Given the description of an element on the screen output the (x, y) to click on. 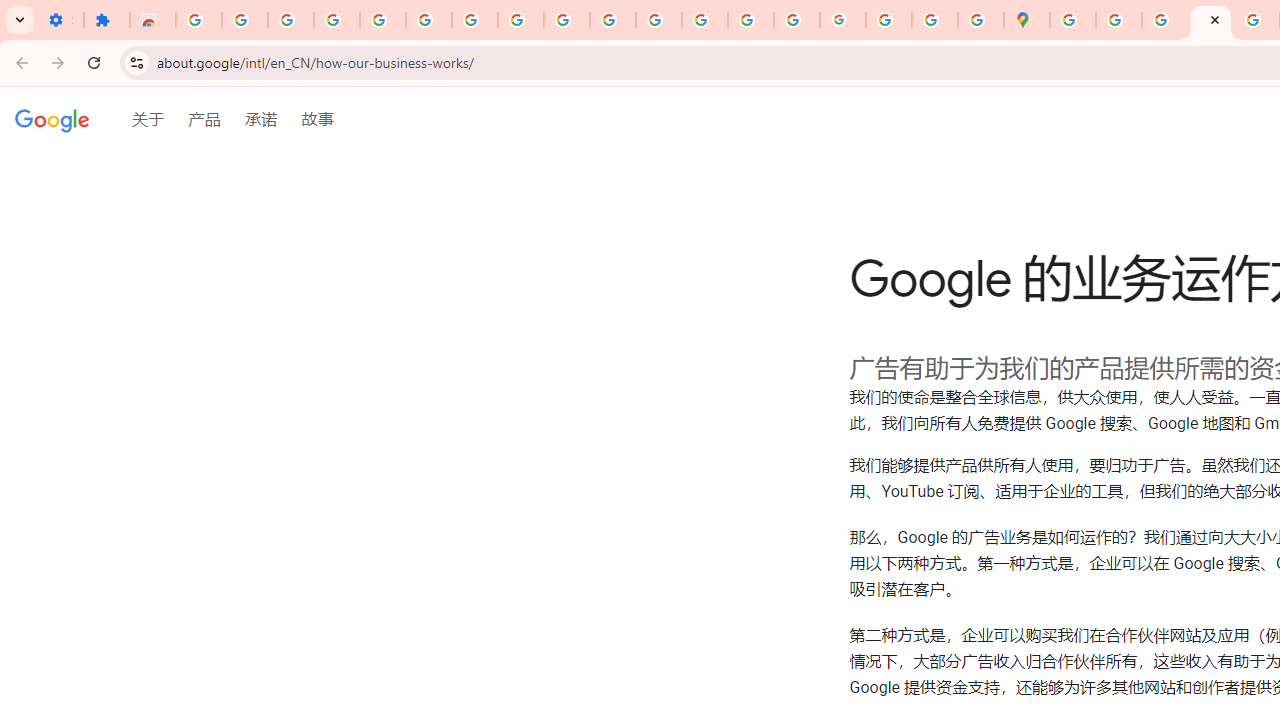
Sign in - Google Accounts (198, 20)
